Given the description of an element on the screen output the (x, y) to click on. 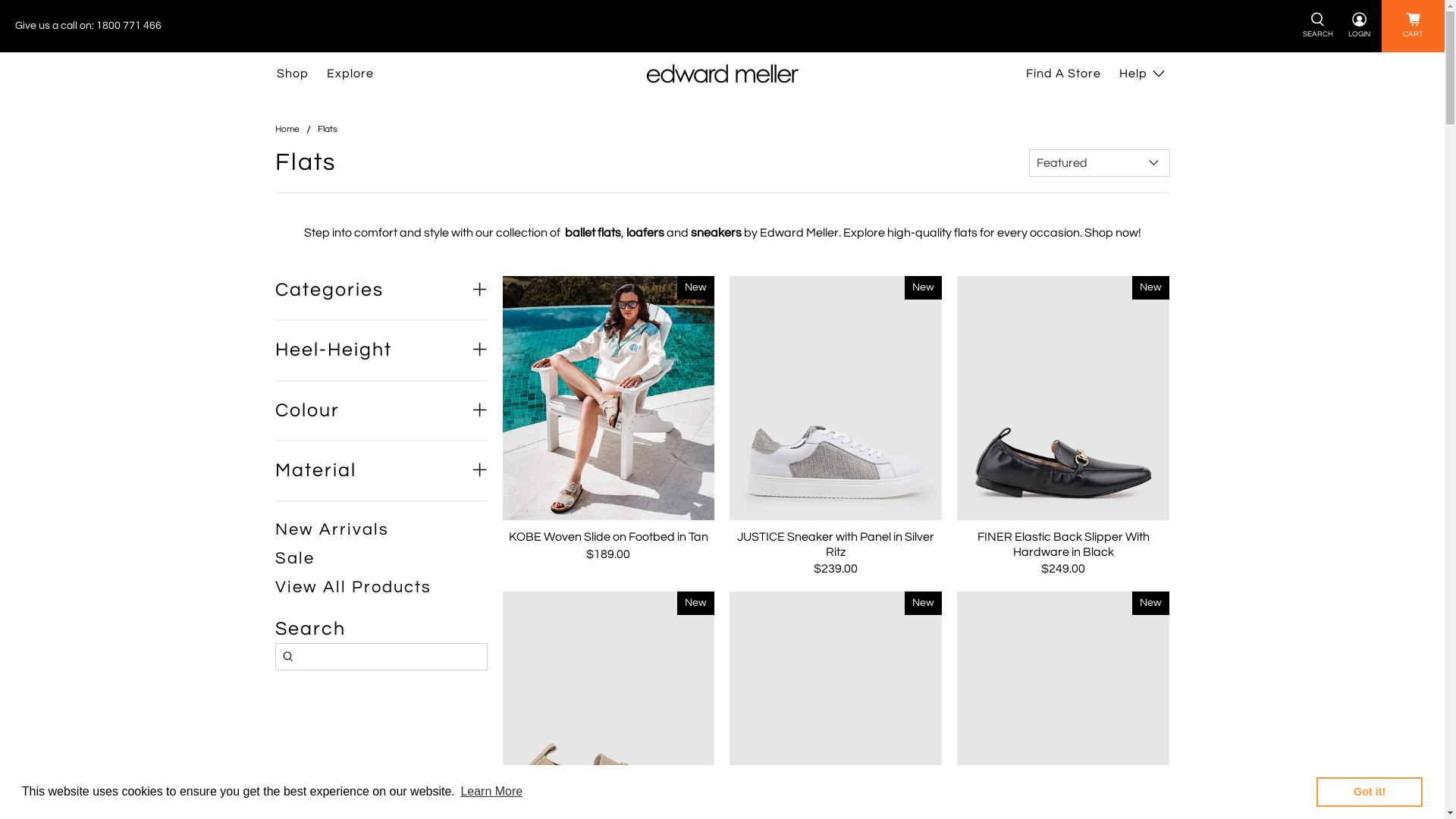
Learn More Element type: text (491, 791)
sneakers  Element type: text (716, 232)
LOGIN Element type: text (1358, 26)
KOBE Woven Slide on Footbed in Tan Element type: text (608, 535)
 ballet flats Element type: text (591, 232)
Edward Meller Element type: hover (721, 73)
Help Element type: text (1143, 73)
Sale Element type: text (293, 558)
Got it! Element type: text (1369, 791)
Find A Store Element type: text (1062, 73)
View All Products Element type: text (352, 587)
loafers Element type: text (645, 232)
Shop Element type: text (291, 73)
New Element type: text (835, 398)
New Element type: text (1063, 398)
Home Element type: text (286, 129)
New Element type: text (608, 398)
SEARCH Element type: text (1317, 26)
CART Element type: text (1412, 26)
New Arrivals Element type: text (331, 529)
JUSTICE Sneaker with Panel in Silver Ritz Element type: text (835, 542)
FINER Elastic Back Slipper With Hardware in Black Element type: text (1063, 542)
Explore Element type: text (349, 73)
Flats Element type: text (326, 129)
